Given the description of an element on the screen output the (x, y) to click on. 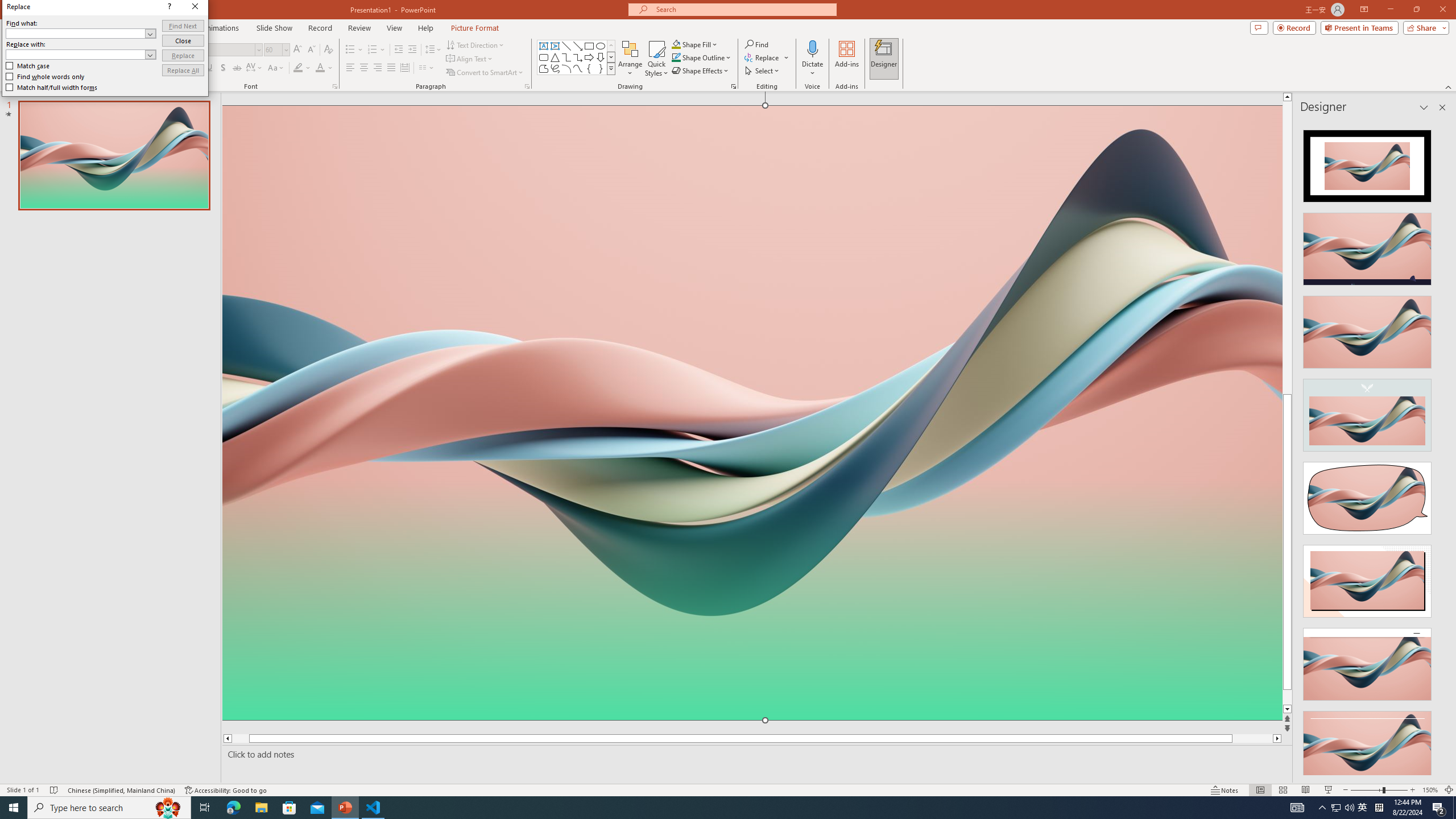
Shadow (223, 67)
Zoom 150% (1430, 790)
Action Center, 2 new notifications (1439, 807)
Align Text (470, 58)
Shape Effects (700, 69)
Picture Format (475, 28)
